Given the description of an element on the screen output the (x, y) to click on. 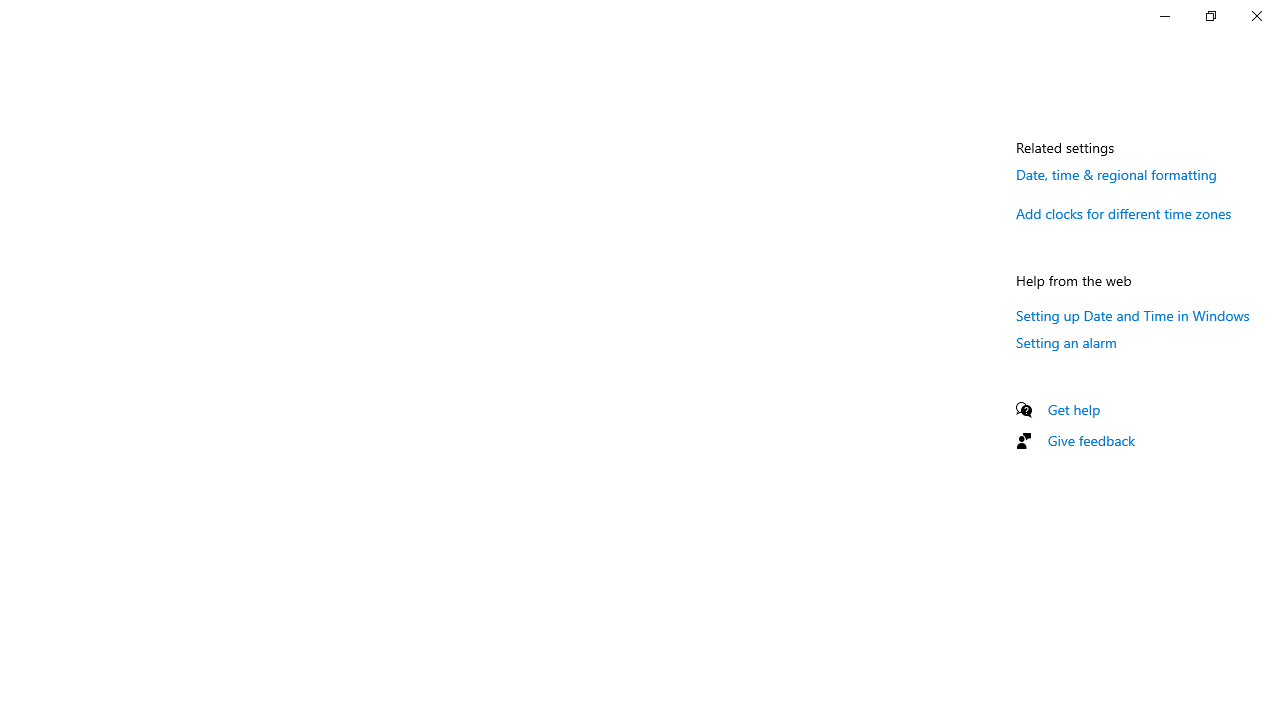
Add clocks for different time zones (1123, 213)
Setting up Date and Time in Windows (1133, 315)
Setting an alarm (1066, 342)
Date, time & regional formatting (1116, 174)
